Given the description of an element on the screen output the (x, y) to click on. 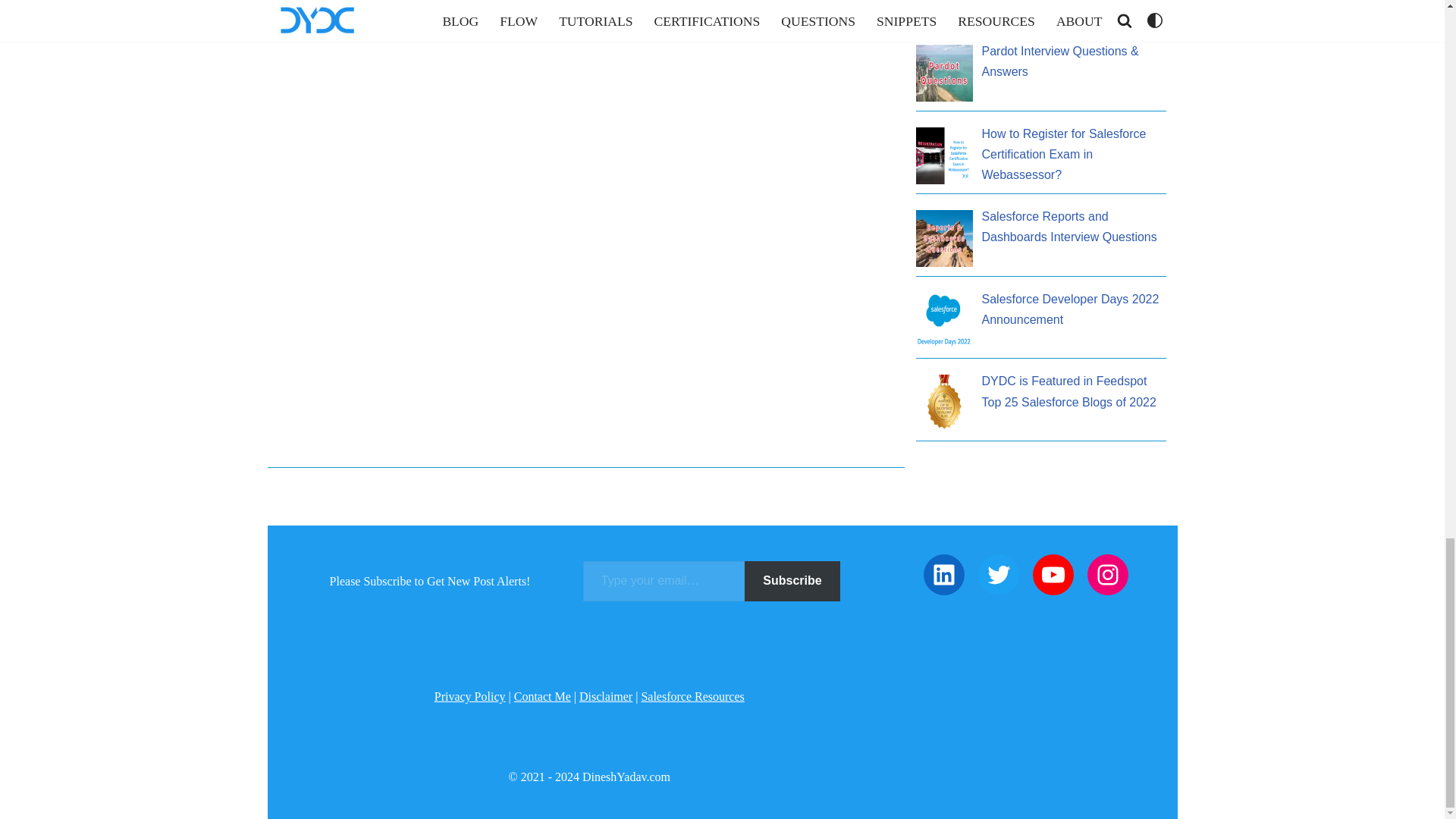
Please fill in this field. (664, 581)
